Given the description of an element on the screen output the (x, y) to click on. 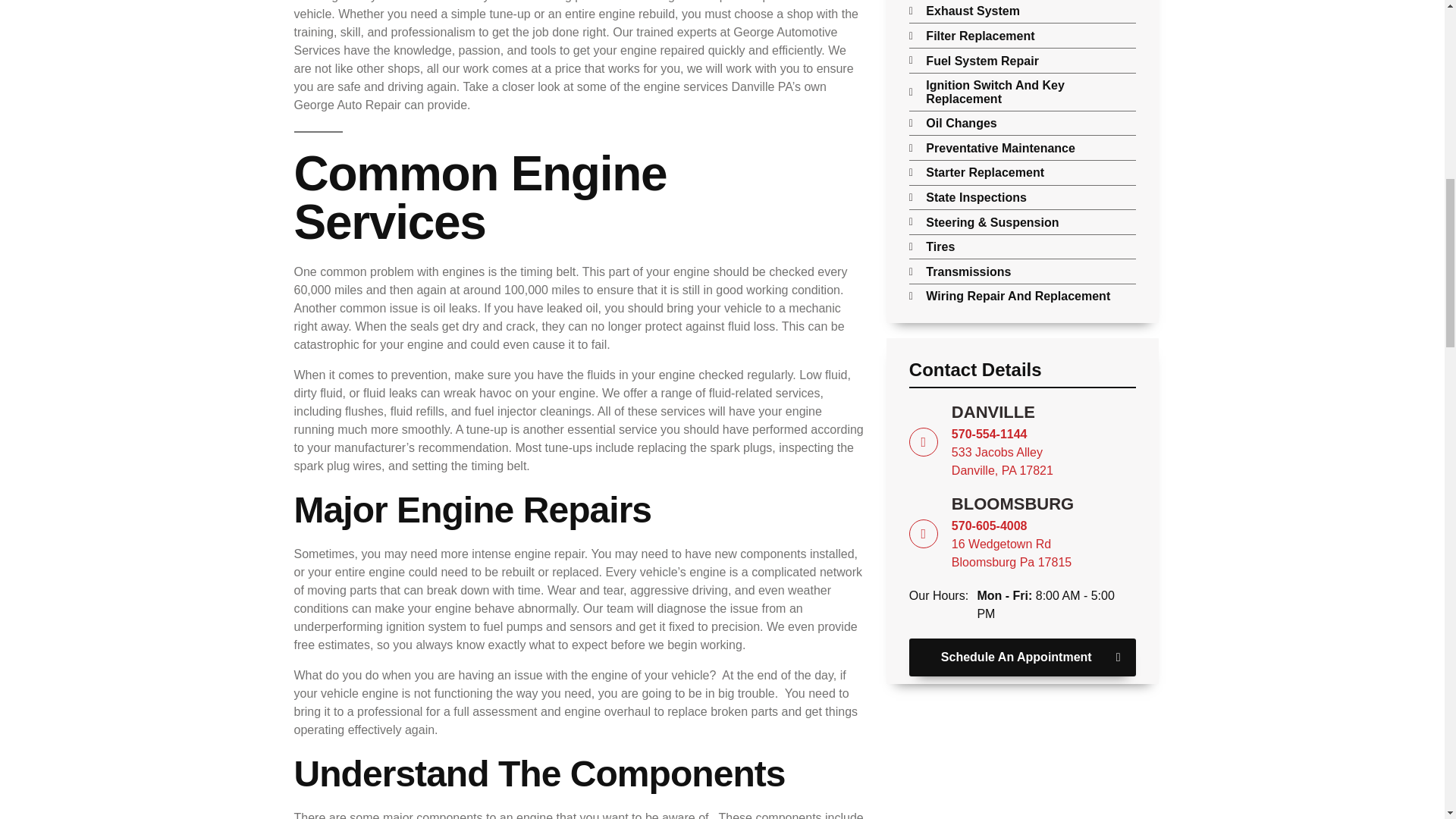
Contact Details (1021, 441)
Our Hours: (1021, 374)
Schedule An Appointment (1021, 533)
Mon - Fri: 8:00 AM - 5:00 PM (942, 596)
